Given the description of an element on the screen output the (x, y) to click on. 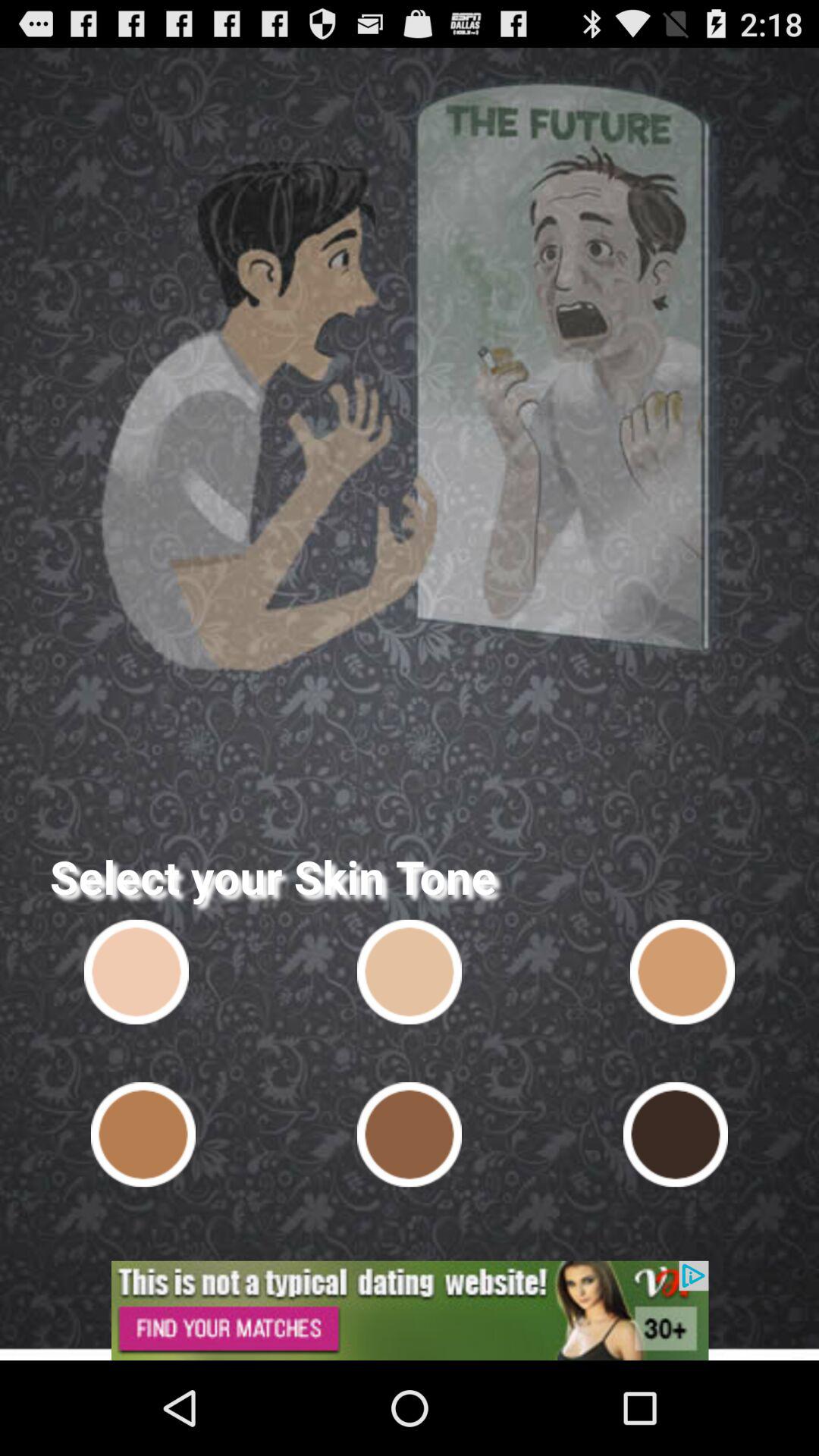
toggle color (682, 971)
